Given the description of an element on the screen output the (x, y) to click on. 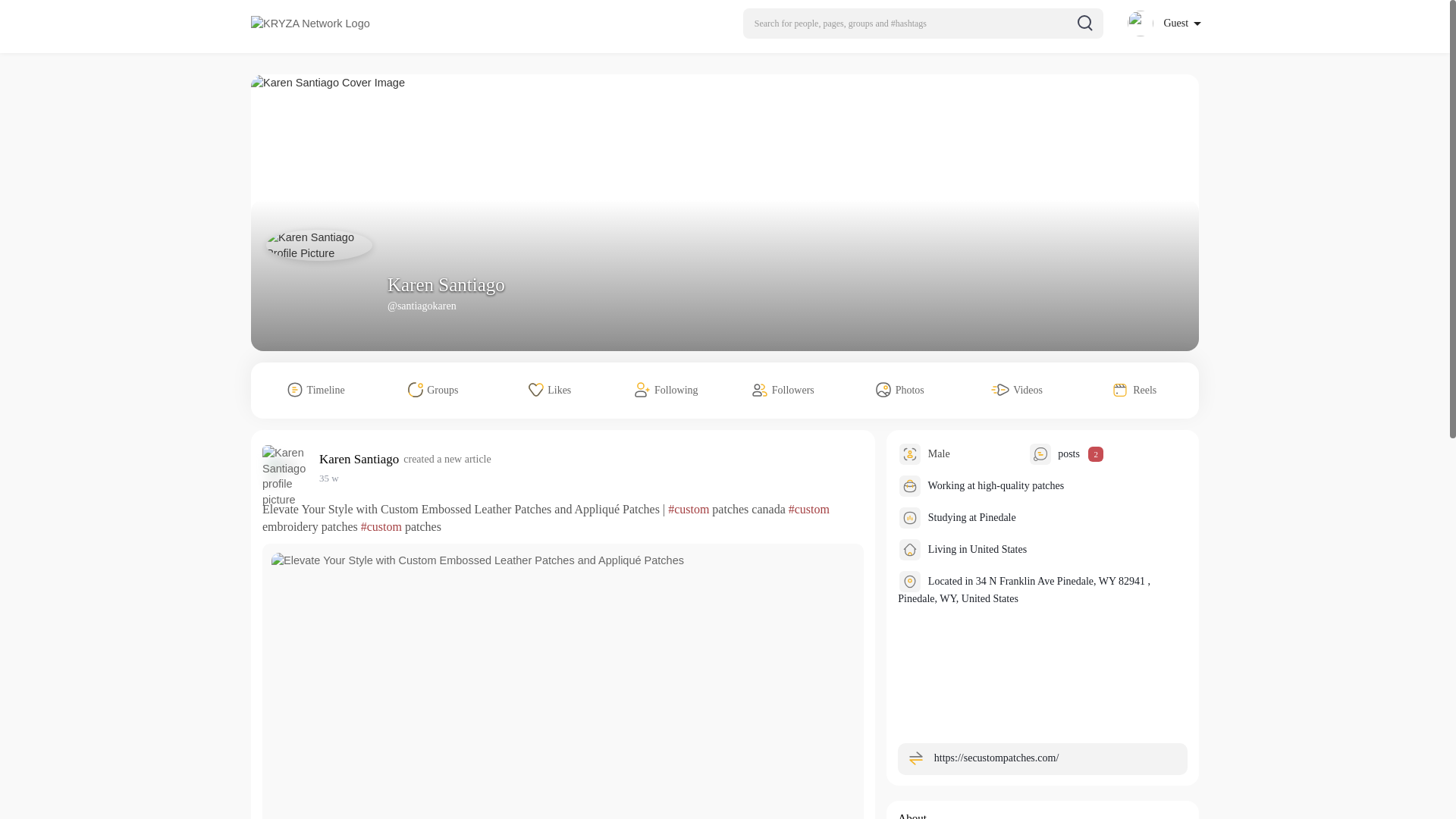
Followers (783, 390)
Following (666, 390)
Timeline (315, 390)
Karen Santiago (446, 284)
high-quality patches (1020, 485)
Groups (432, 390)
Photos (899, 390)
Reels (1133, 390)
Karen Santiago (361, 459)
Guest (1163, 23)
Likes (550, 390)
Videos (1015, 390)
35 w (328, 478)
